Given the description of an element on the screen output the (x, y) to click on. 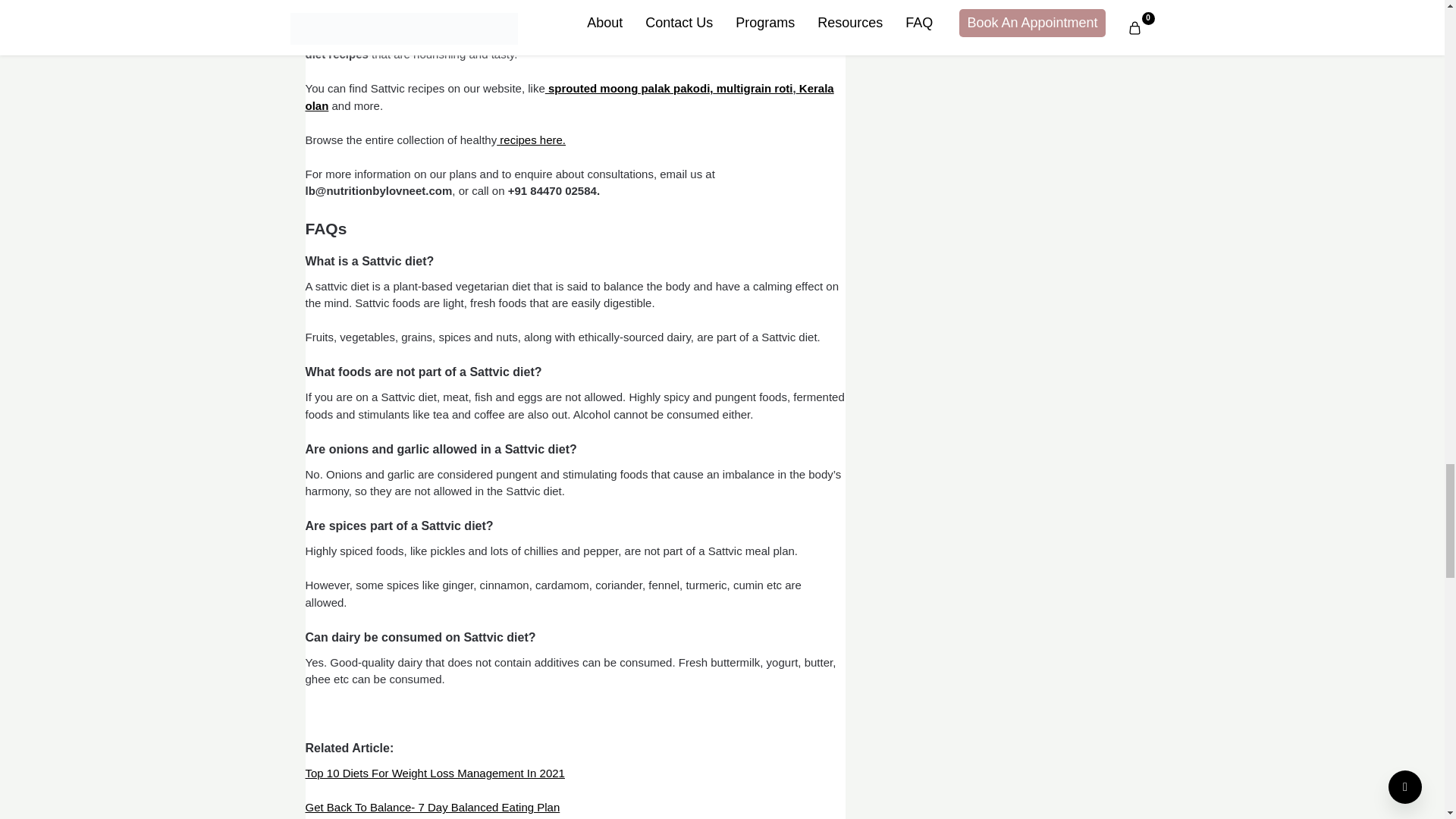
sprouted moong palak pakodi, (628, 88)
recipes here. (531, 139)
Kerala olan (568, 96)
multigrain roti (752, 88)
Get Back To Balance- 7 Day Balanced Eating Plan (431, 807)
Top 10 Diets For Weight Loss Management In 2021 (434, 772)
